Given the description of an element on the screen output the (x, y) to click on. 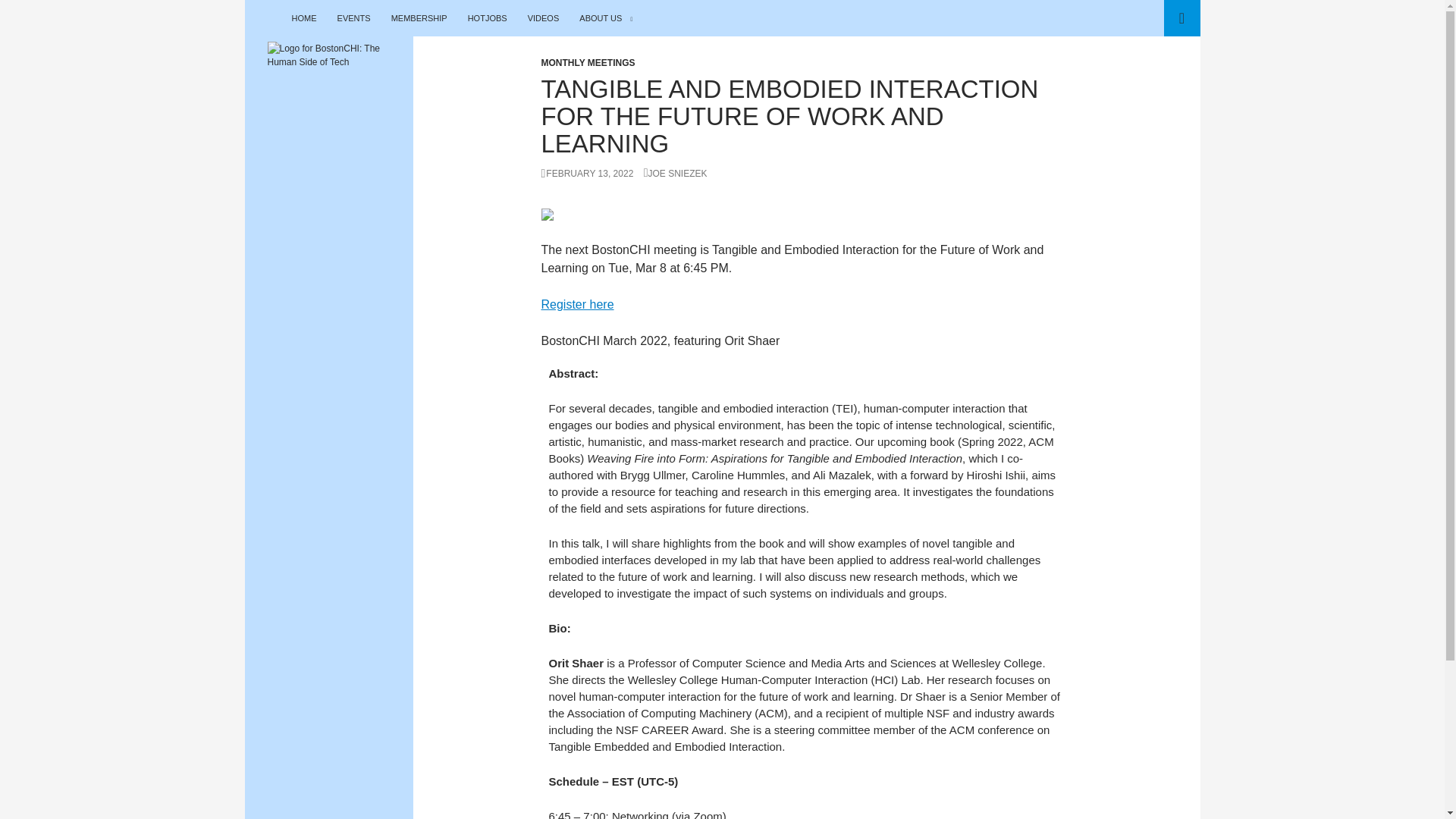
VIDEOS (543, 18)
MEMBERSHIP (419, 18)
HOME (303, 18)
EVENTS (354, 18)
MONTHLY MEETINGS (587, 62)
Register here (577, 304)
BostonCHI (301, 18)
ABOUT US (606, 18)
JOE SNIEZEK (675, 173)
HOTJOBS (487, 18)
